Given the description of an element on the screen output the (x, y) to click on. 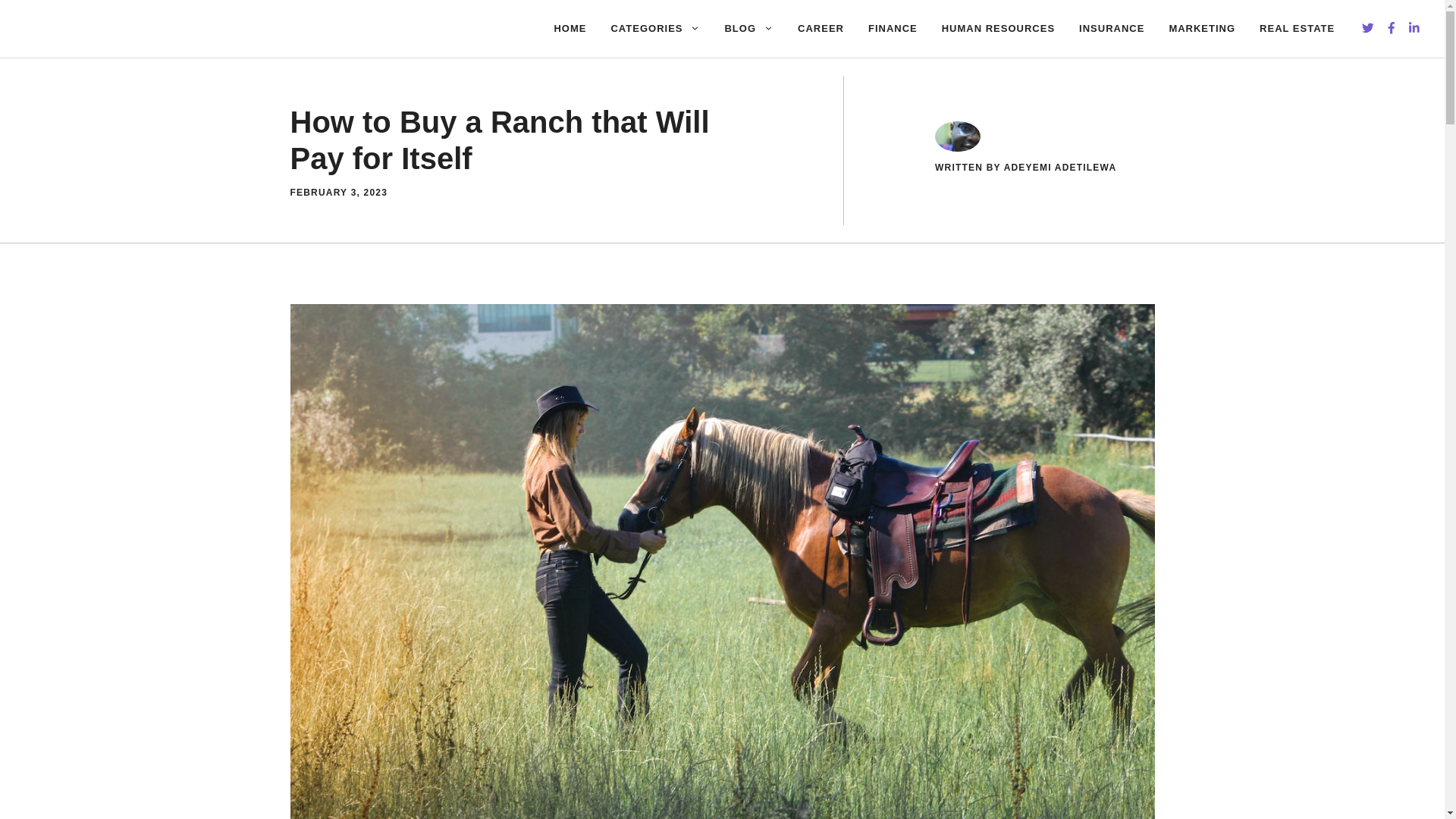
CAREER (821, 28)
HUMAN RESOURCES (998, 28)
FINANCE (893, 28)
BLOG (748, 28)
MARKETING (1201, 28)
INSURANCE (1111, 28)
REAL ESTATE (1296, 28)
CATEGORIES (654, 28)
HOME (569, 28)
